Given the description of an element on the screen output the (x, y) to click on. 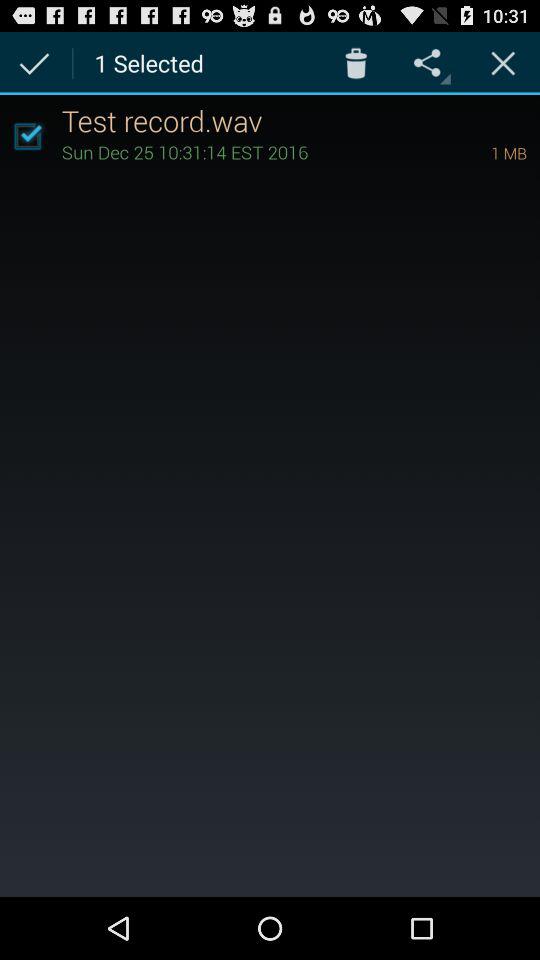
turn on the app next to the 1 selected icon (356, 62)
